Given the description of an element on the screen output the (x, y) to click on. 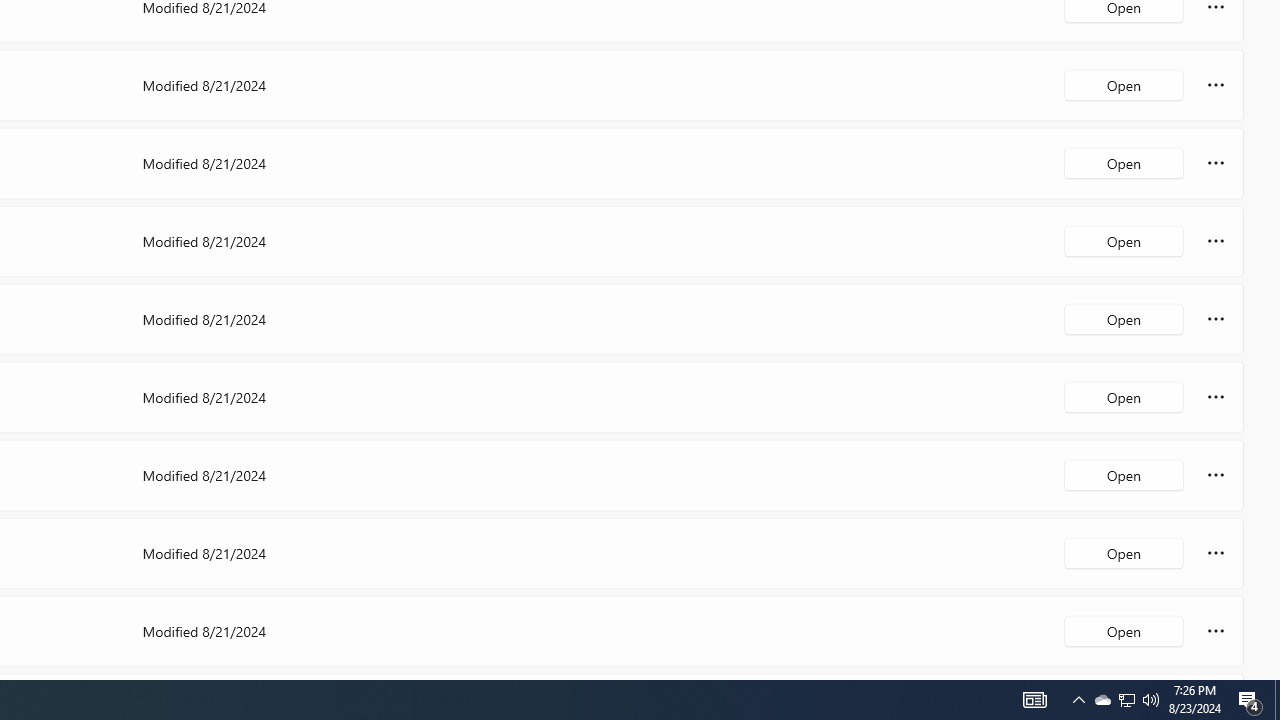
Open (1123, 630)
Vertical Small Increase (1272, 672)
More options (1215, 630)
